Given the description of an element on the screen output the (x, y) to click on. 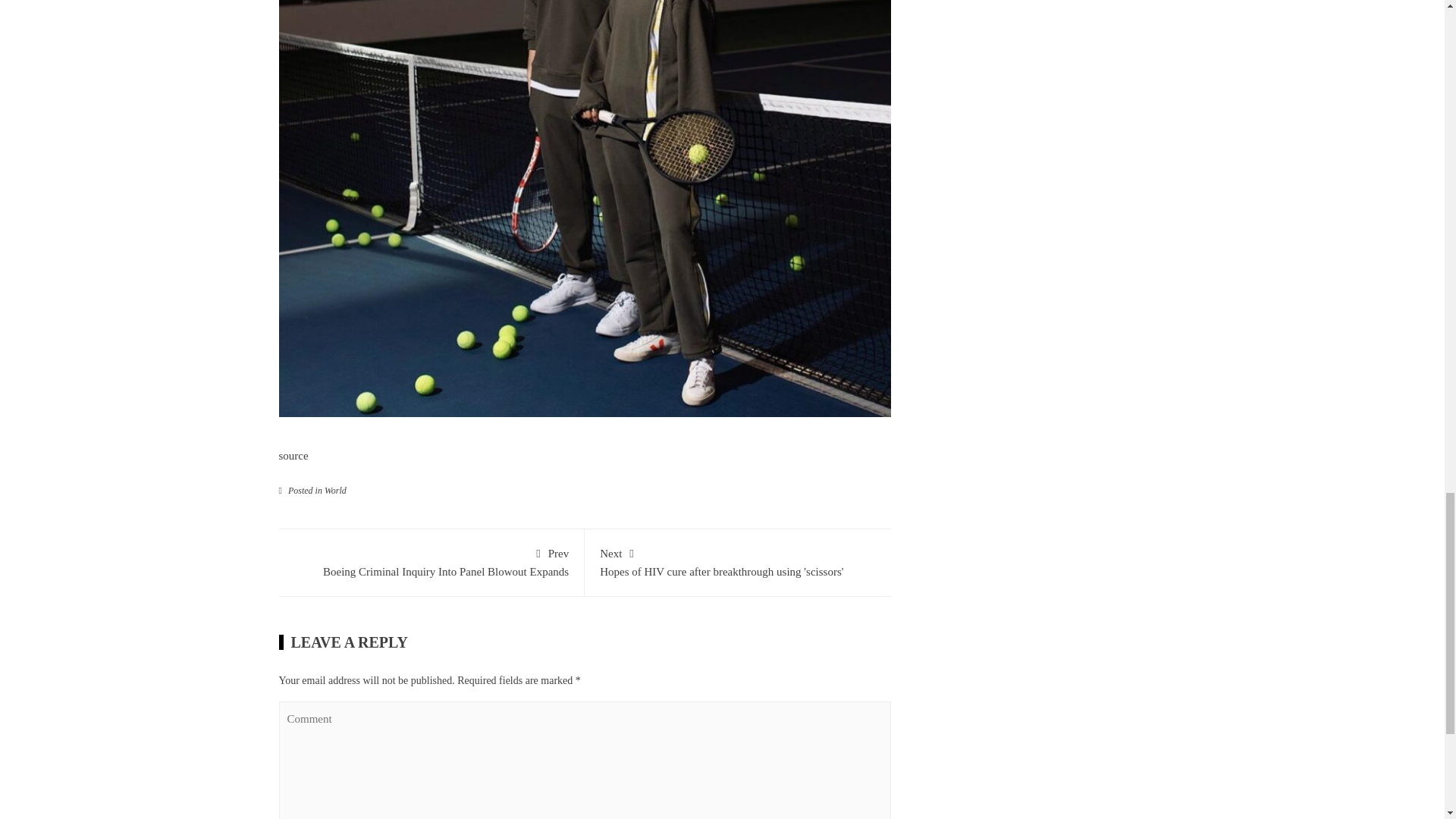
source (737, 561)
World (431, 561)
